Given the description of an element on the screen output the (x, y) to click on. 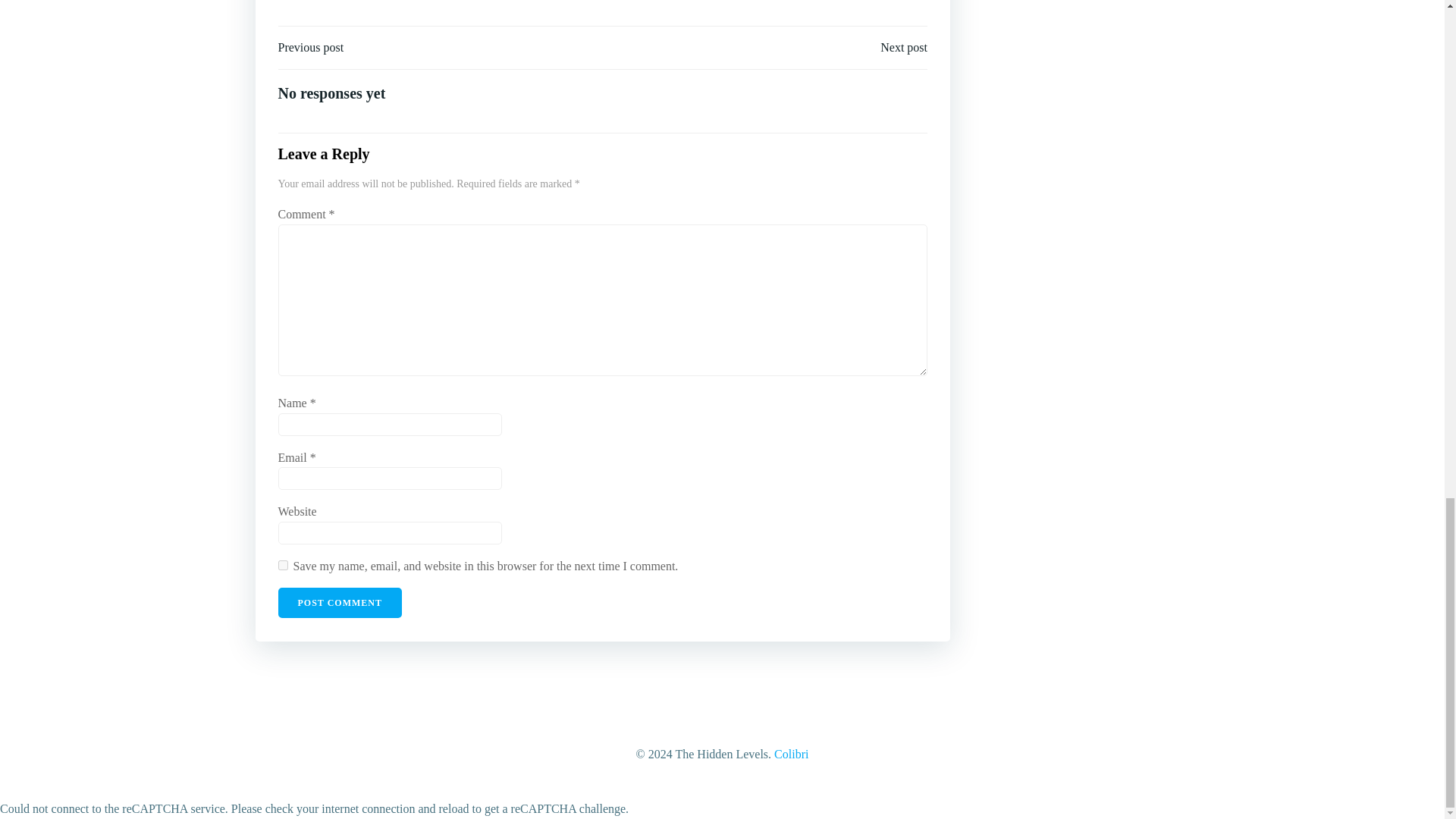
Next post (903, 47)
Trailers Tag (730, 1)
yes (282, 565)
Previous post (310, 47)
Tarsier Studios Tag (674, 1)
Post Comment (339, 603)
Bandai Namco Entertainment Europe Tag (387, 1)
Bandai Namco Entertainment Europe (387, 1)
Puzzle-Platformer Tag (595, 1)
Post Comment (339, 603)
Tarsier Studios (674, 1)
Colibri (791, 753)
Little Nightmares (513, 1)
Trailers (730, 1)
Little Nightmares Tag (513, 1)
